Given the description of an element on the screen output the (x, y) to click on. 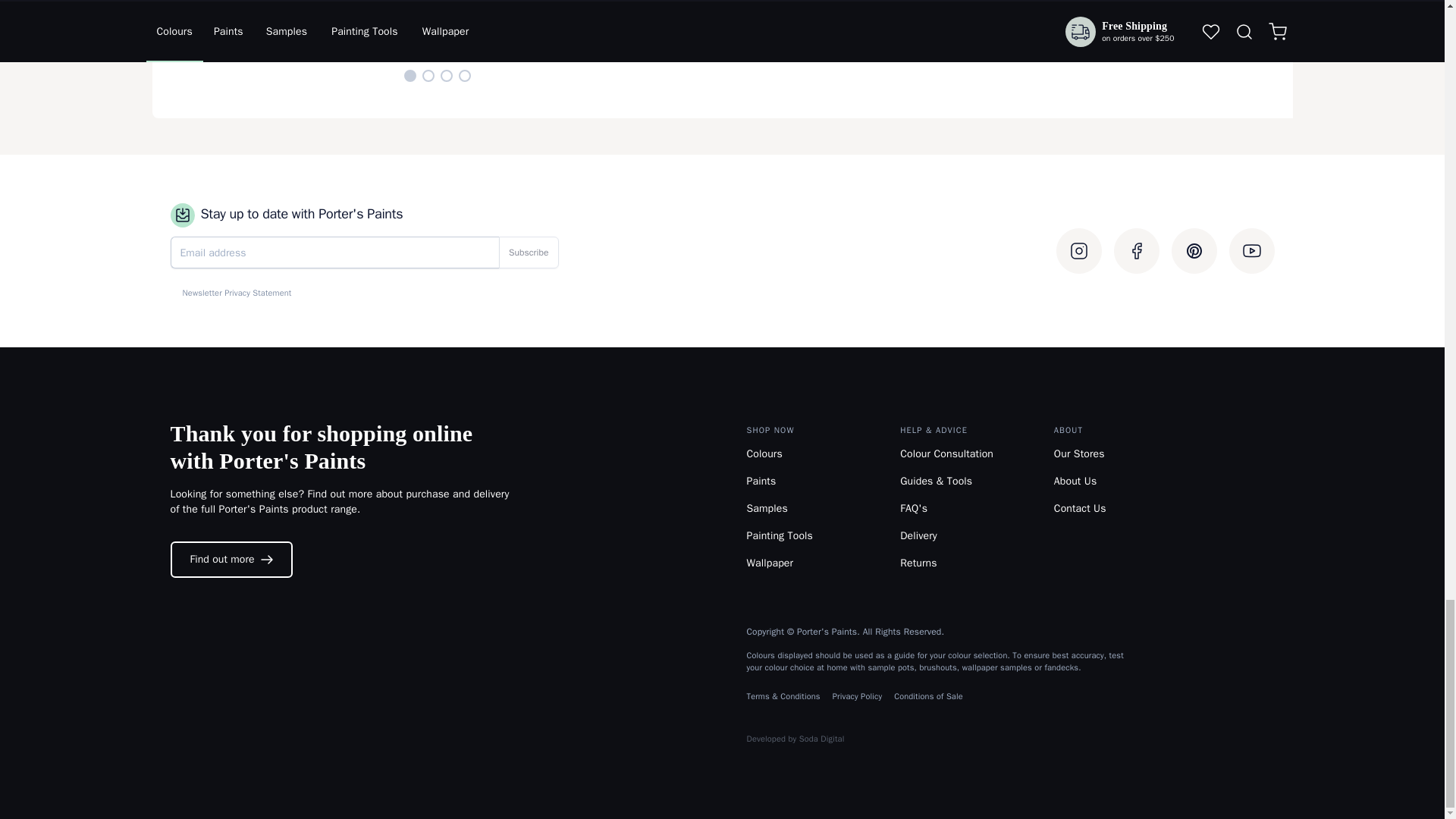
Contact Porter's Paints (1080, 508)
Conditions of Sale (927, 695)
About Porter's Paints (1075, 481)
Porter's Paints Returns (918, 562)
Porter's Paints Stores (1079, 453)
Porter's Paints Delivery (918, 535)
Porter's Paints Wallpaper (769, 562)
Porter's Paints Colours (763, 453)
Porter's Paints Samples (766, 508)
Colour Consultation (945, 453)
Porter's Paints FAQ's (913, 508)
Privacy Policy (857, 695)
Porter's Paints Products (760, 481)
Porter's Paints Painting Tools (778, 535)
